Given the description of an element on the screen output the (x, y) to click on. 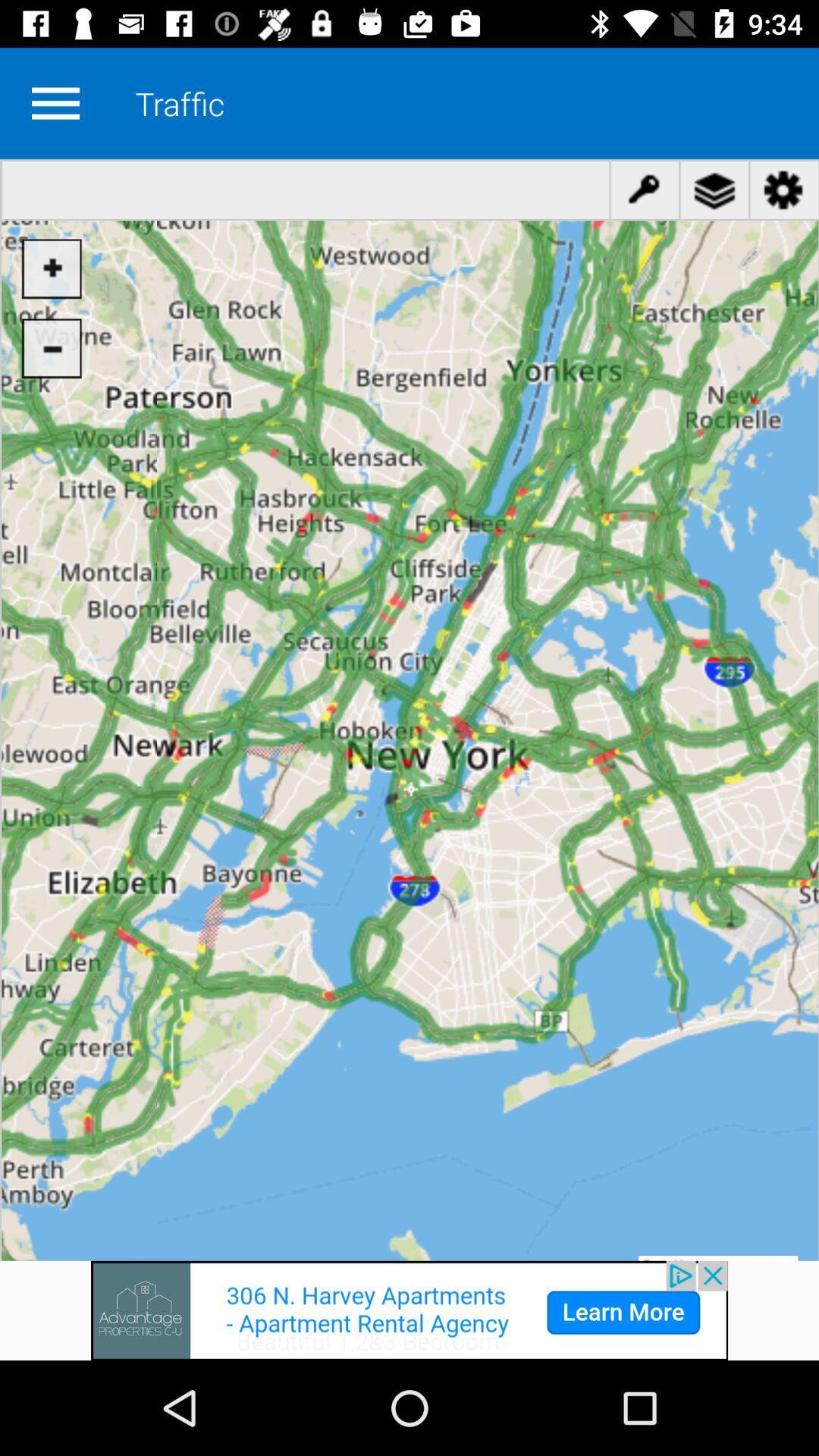
go to menu (55, 103)
